Given the description of an element on the screen output the (x, y) to click on. 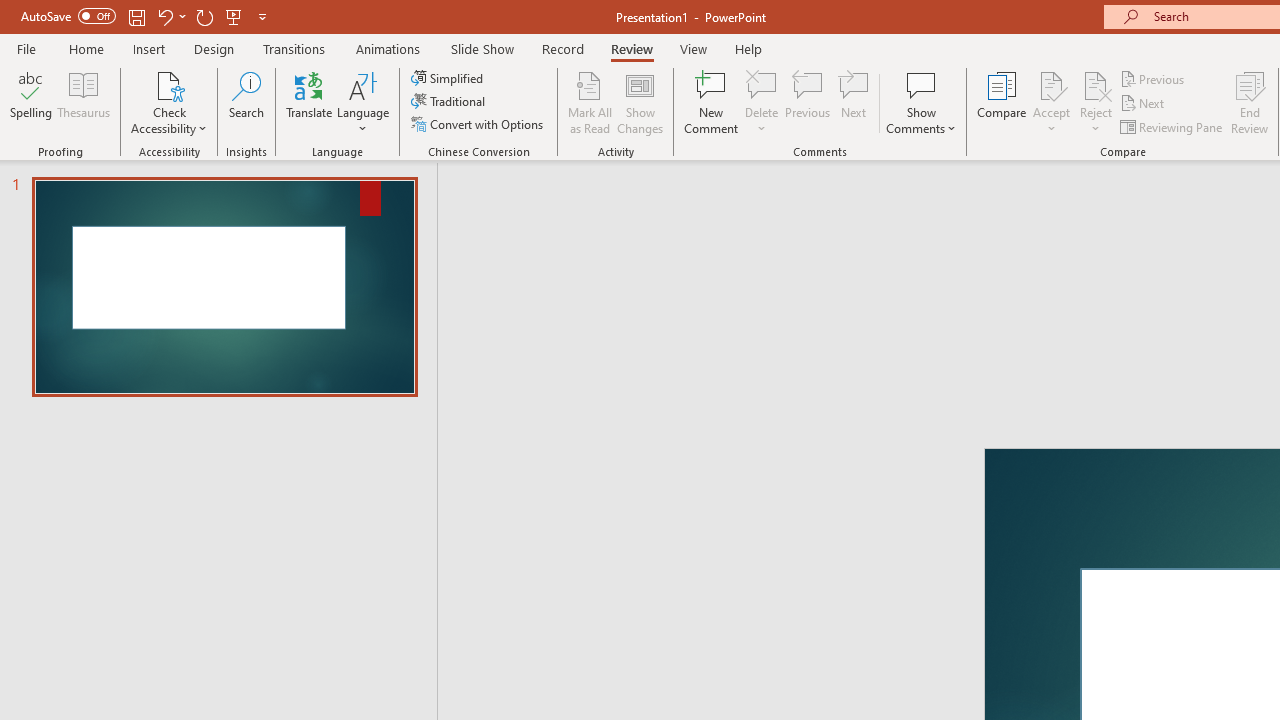
Search (246, 102)
Show Changes (639, 102)
Save (136, 15)
Simplified (449, 78)
